Given the description of an element on the screen output the (x, y) to click on. 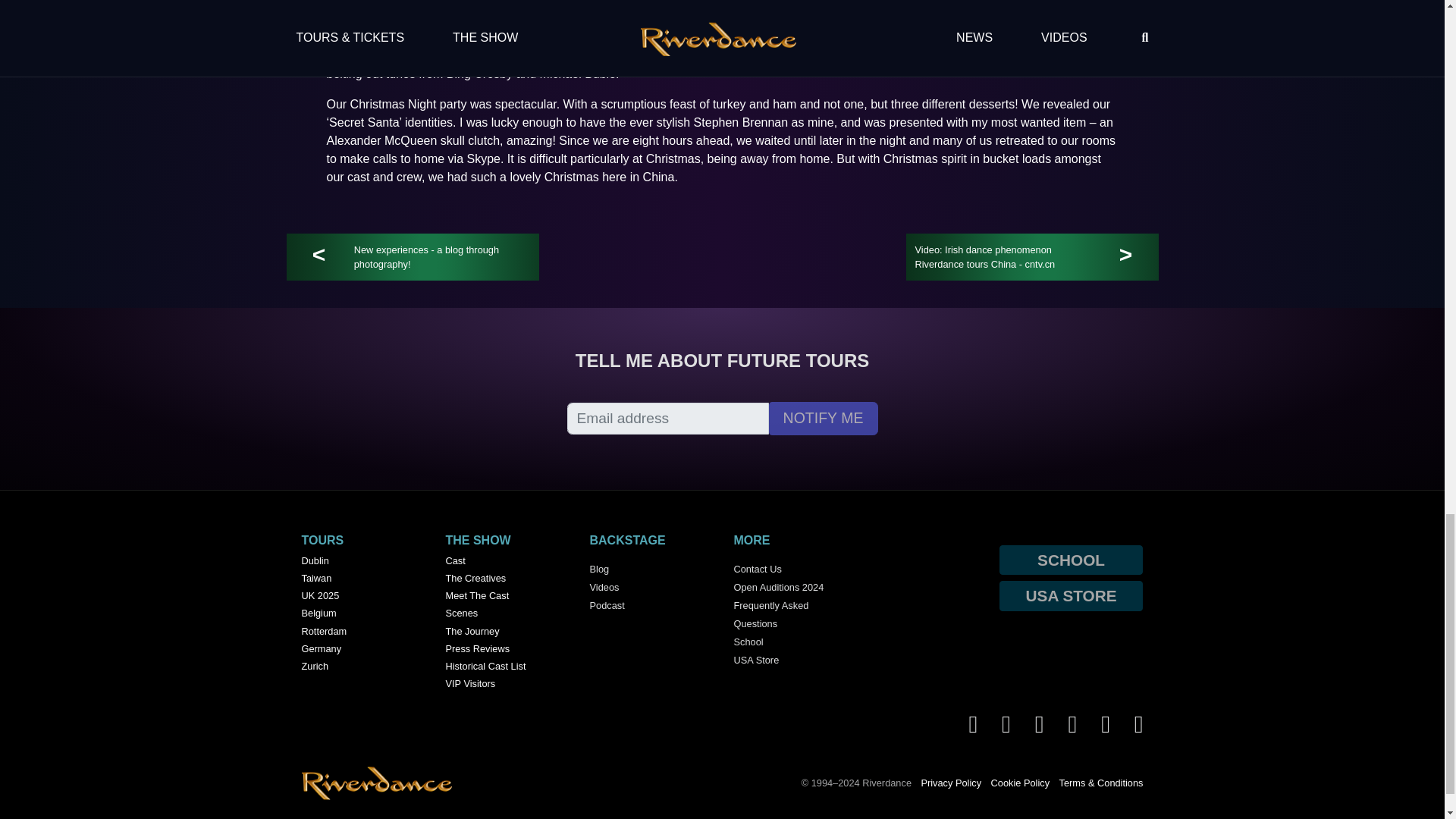
NOTIFY ME (822, 418)
Meet The Cast (506, 597)
Germany (362, 650)
The Creatives (506, 579)
TOURS (322, 540)
Rotterdam (362, 632)
UK 2025 (362, 597)
THE SHOW (478, 540)
Dublin (362, 561)
Cast (506, 561)
